Given the description of an element on the screen output the (x, y) to click on. 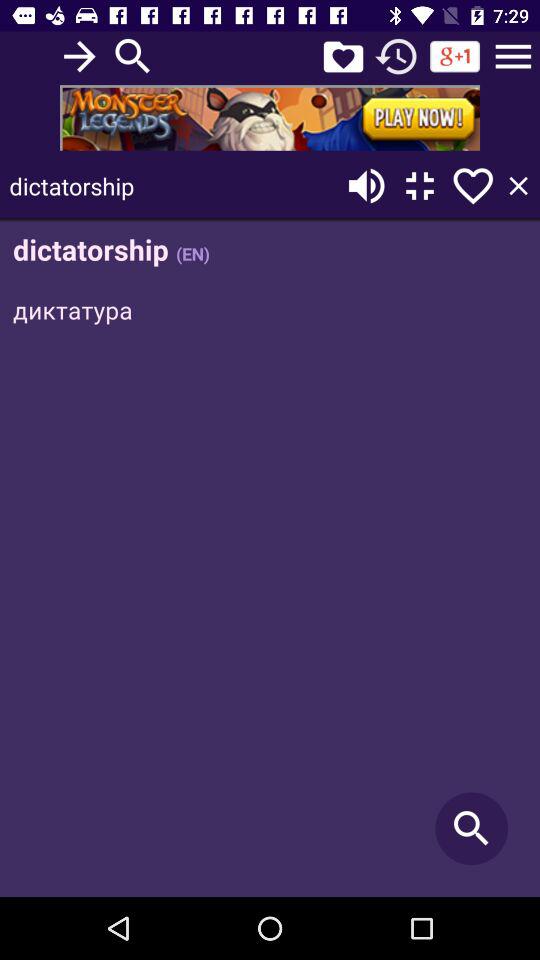
go to next (79, 56)
